Given the description of an element on the screen output the (x, y) to click on. 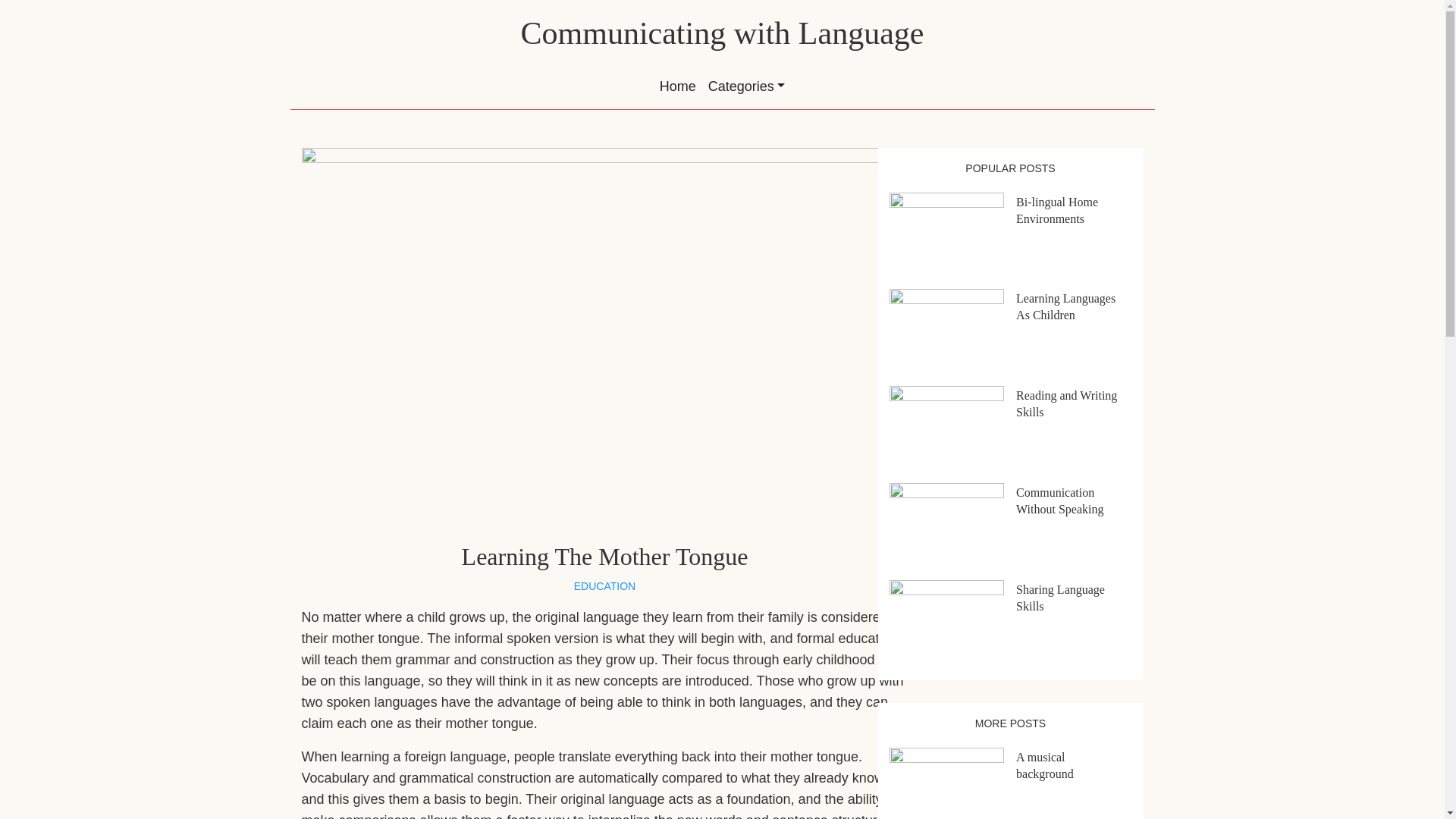
Communicating with Language (722, 33)
Communication Without Speaking (1059, 500)
EDUCATION (603, 585)
Categories (746, 86)
Reading and Writing Skills (1066, 403)
Home (677, 86)
A musical background (1045, 765)
Bi-lingual Home Environments (1056, 210)
Learning Languages As Children (1065, 306)
Sharing Language Skills (1060, 597)
